Given the description of an element on the screen output the (x, y) to click on. 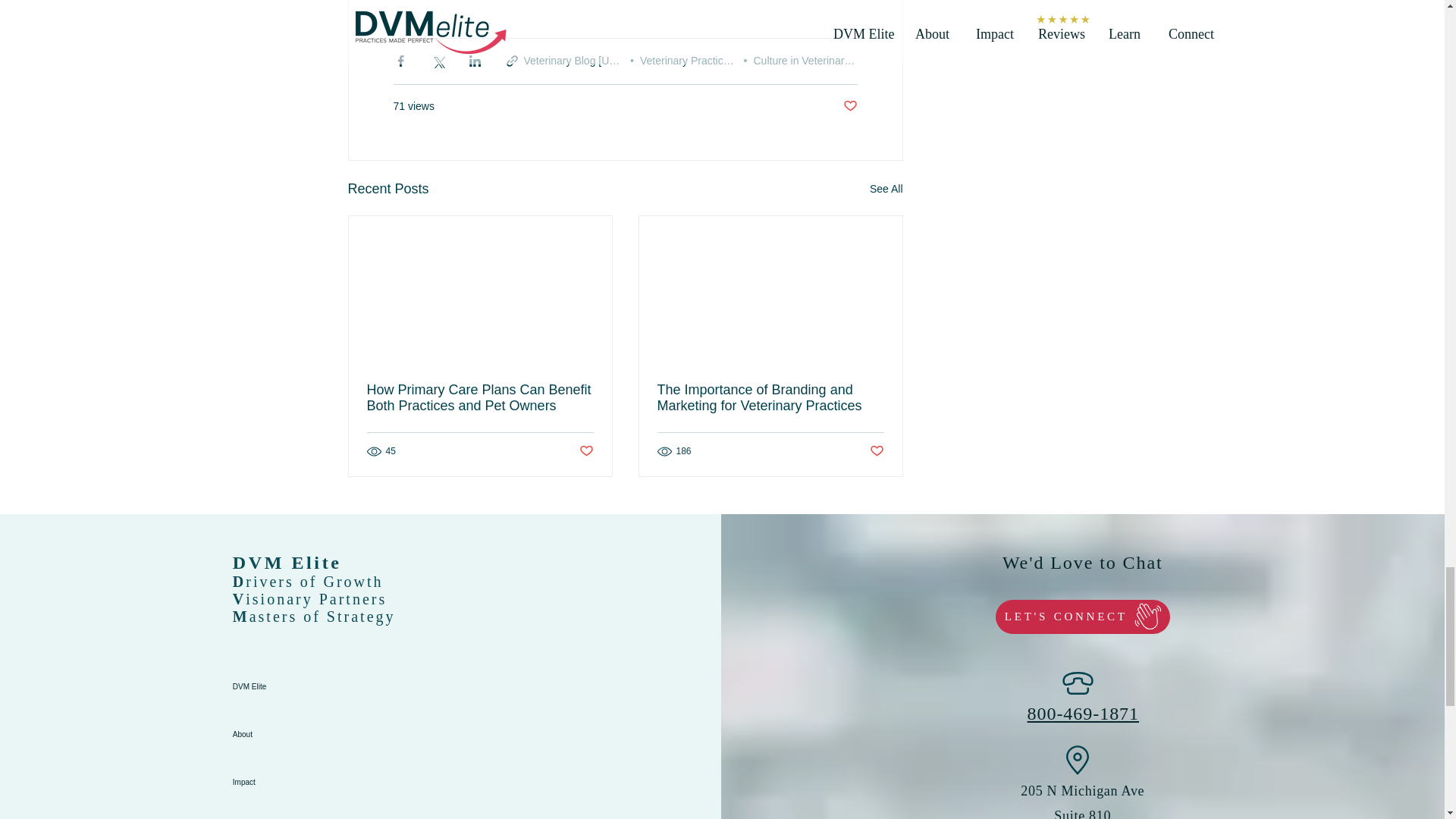
Culture in Veterinary Practice 2024 (835, 60)
Post not marked as liked (850, 106)
Veterinary Practice Management (716, 60)
See All (885, 188)
Post not marked as liked (586, 451)
Post not marked as liked (876, 451)
